Given the description of an element on the screen output the (x, y) to click on. 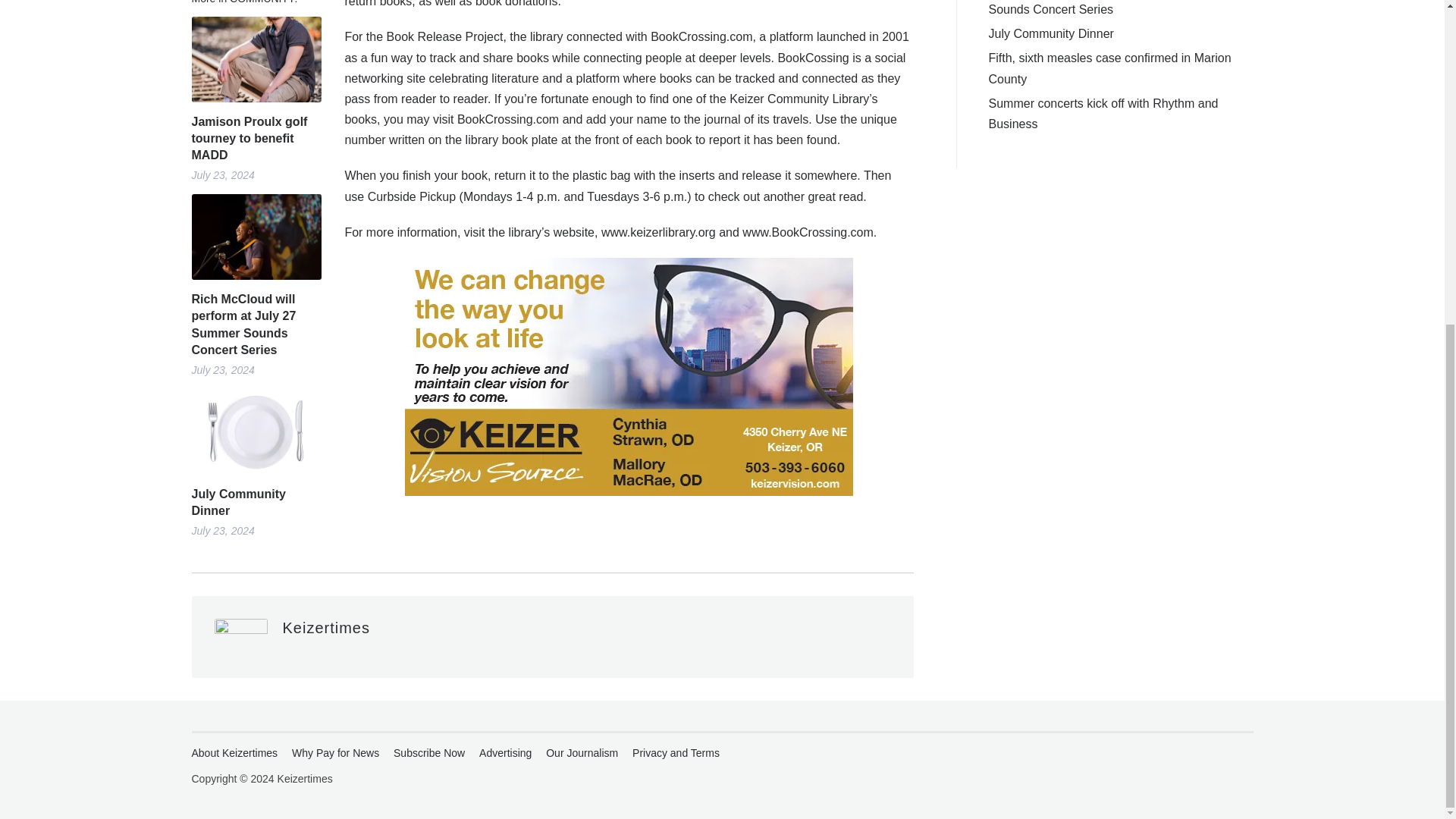
Permalink to Jamison Proulx golf tourney to benefit MADD (255, 59)
Permalink to July Community Dinner (255, 432)
Permalink to July Community Dinner (255, 503)
Permalink to Jamison Proulx golf tourney to benefit MADD (255, 138)
Posts by Keizertimes (325, 627)
